Given the description of an element on the screen output the (x, y) to click on. 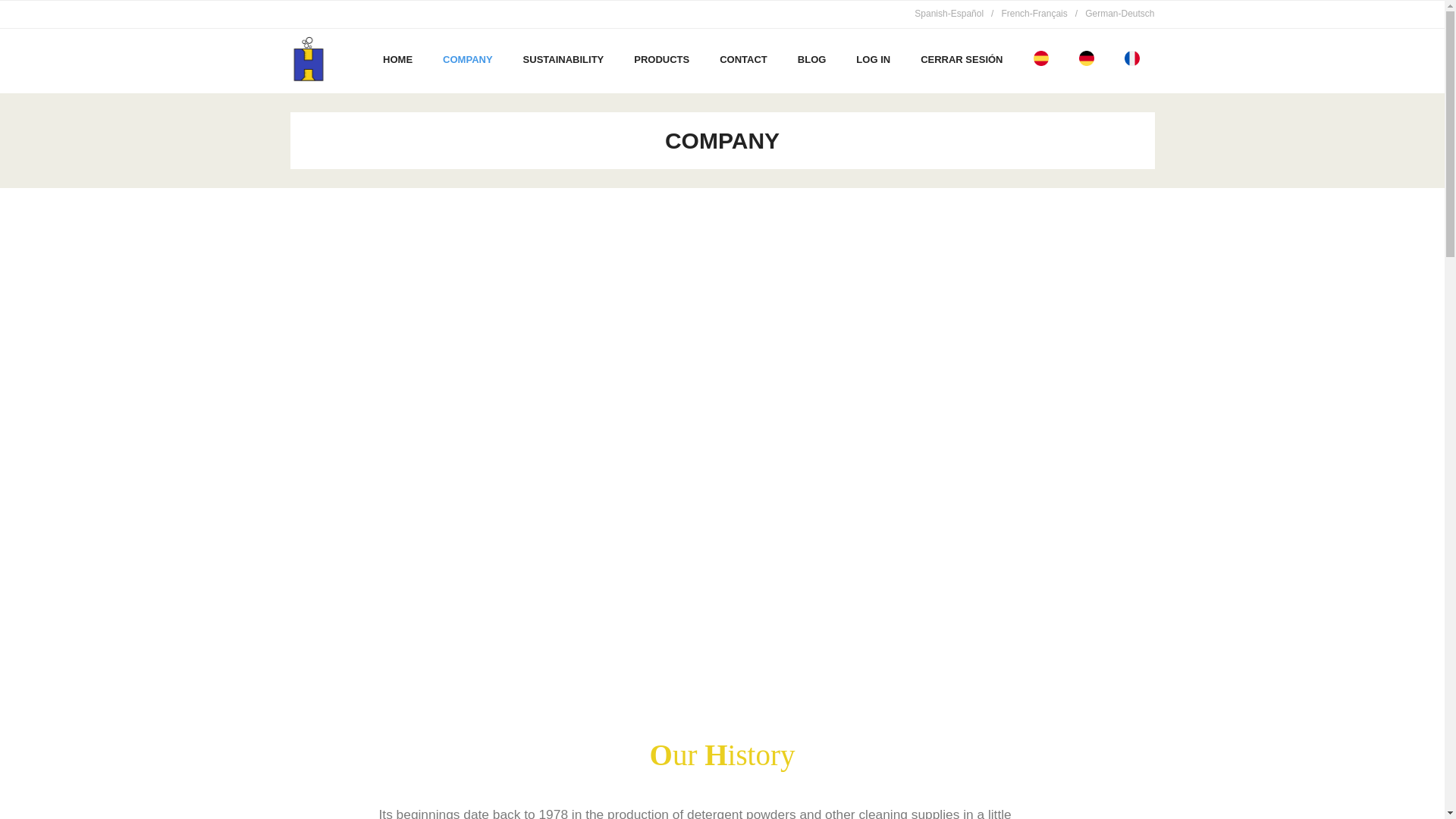
SUSTAINABILITY (564, 59)
COMPANY (467, 59)
German-Deutsch (1119, 13)
BLOG (812, 59)
LOG IN (873, 59)
PRODUCTS (661, 59)
CONTACT (743, 59)
HOME (398, 59)
